Given the description of an element on the screen output the (x, y) to click on. 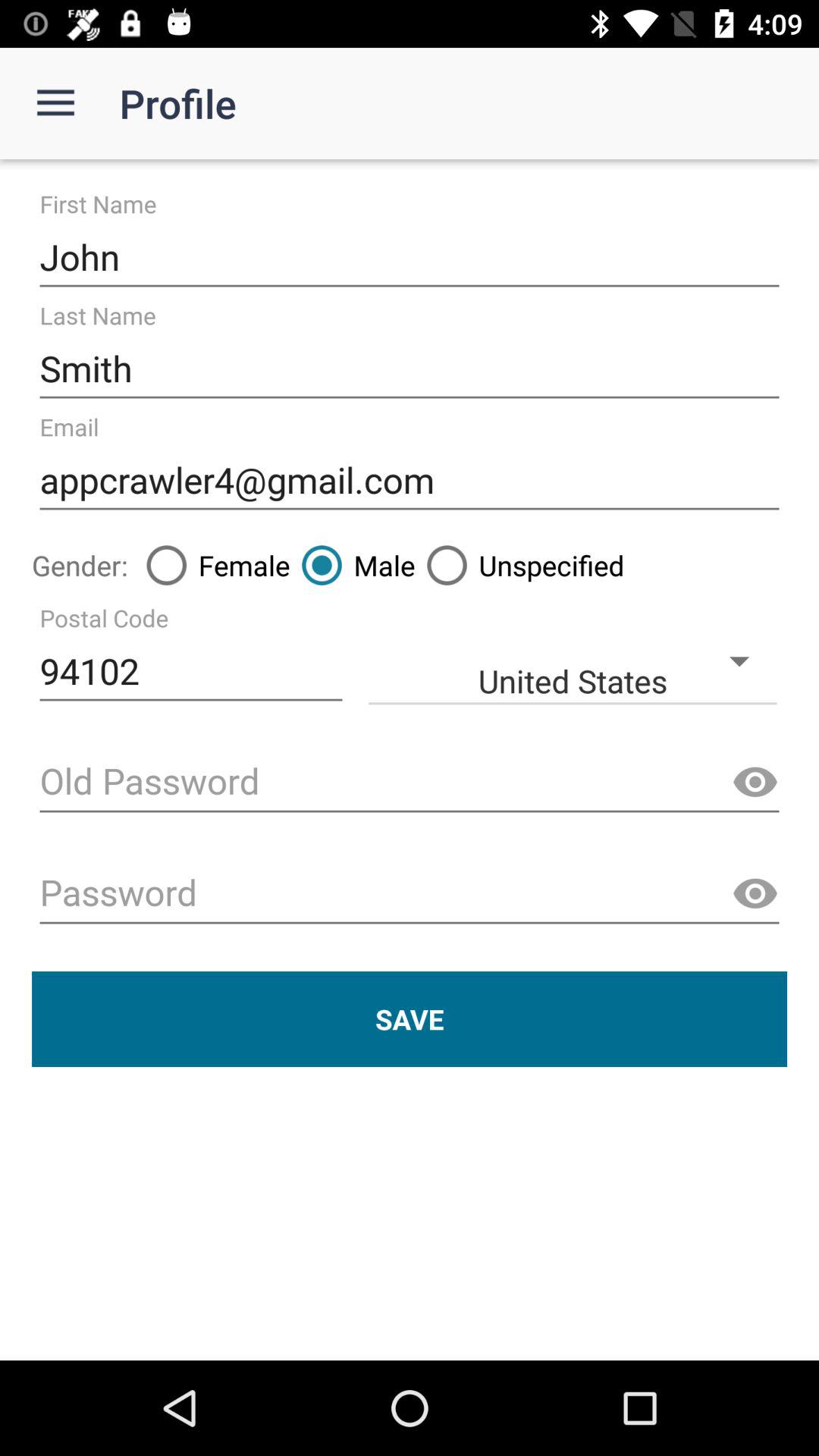
turn off male item (352, 565)
